Given the description of an element on the screen output the (x, y) to click on. 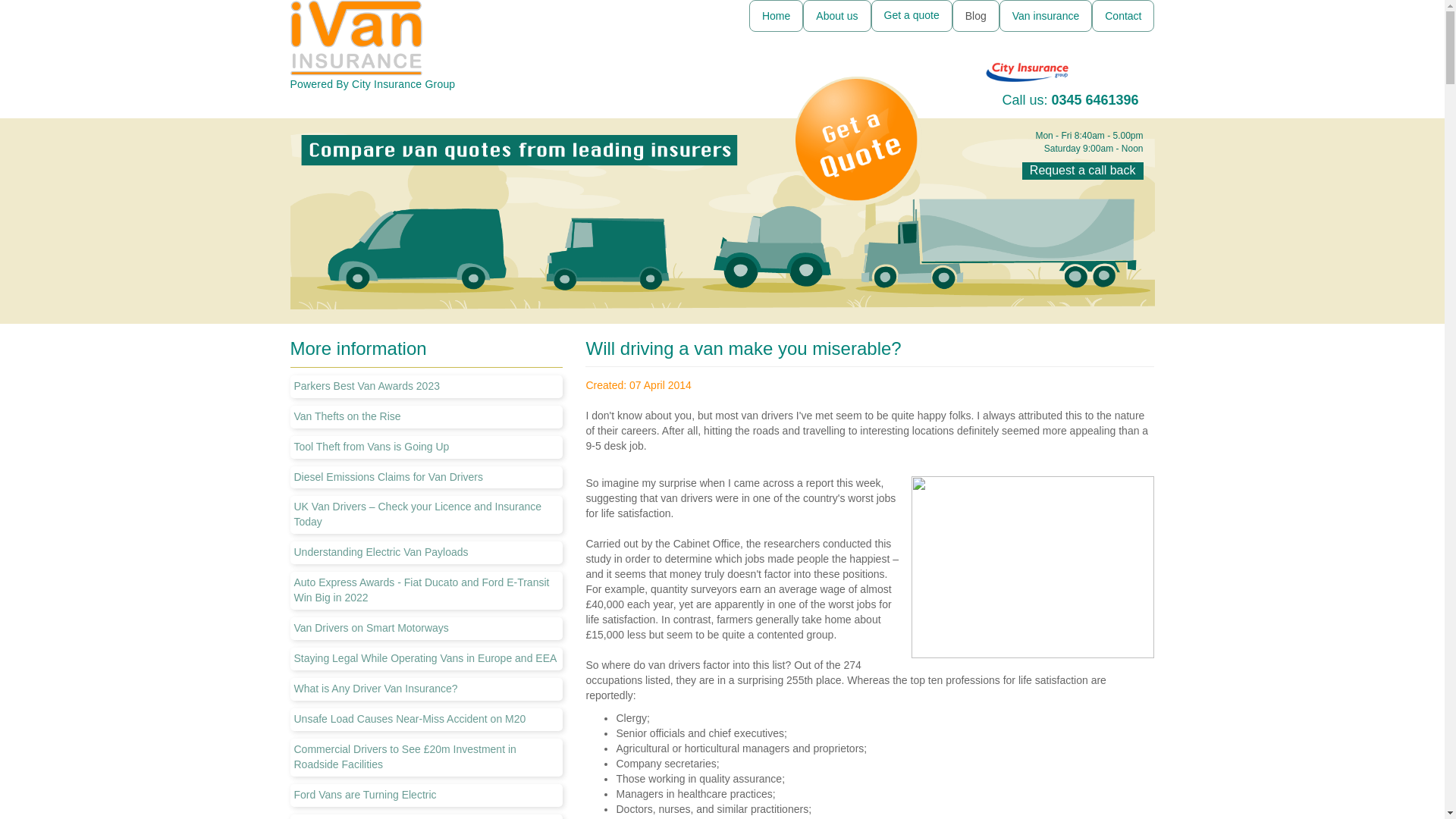
About us (836, 15)
Contact (1123, 15)
Blog (975, 15)
Home (776, 15)
Van insurance (1045, 15)
Powered By City Insurance Group (425, 45)
